Given the description of an element on the screen output the (x, y) to click on. 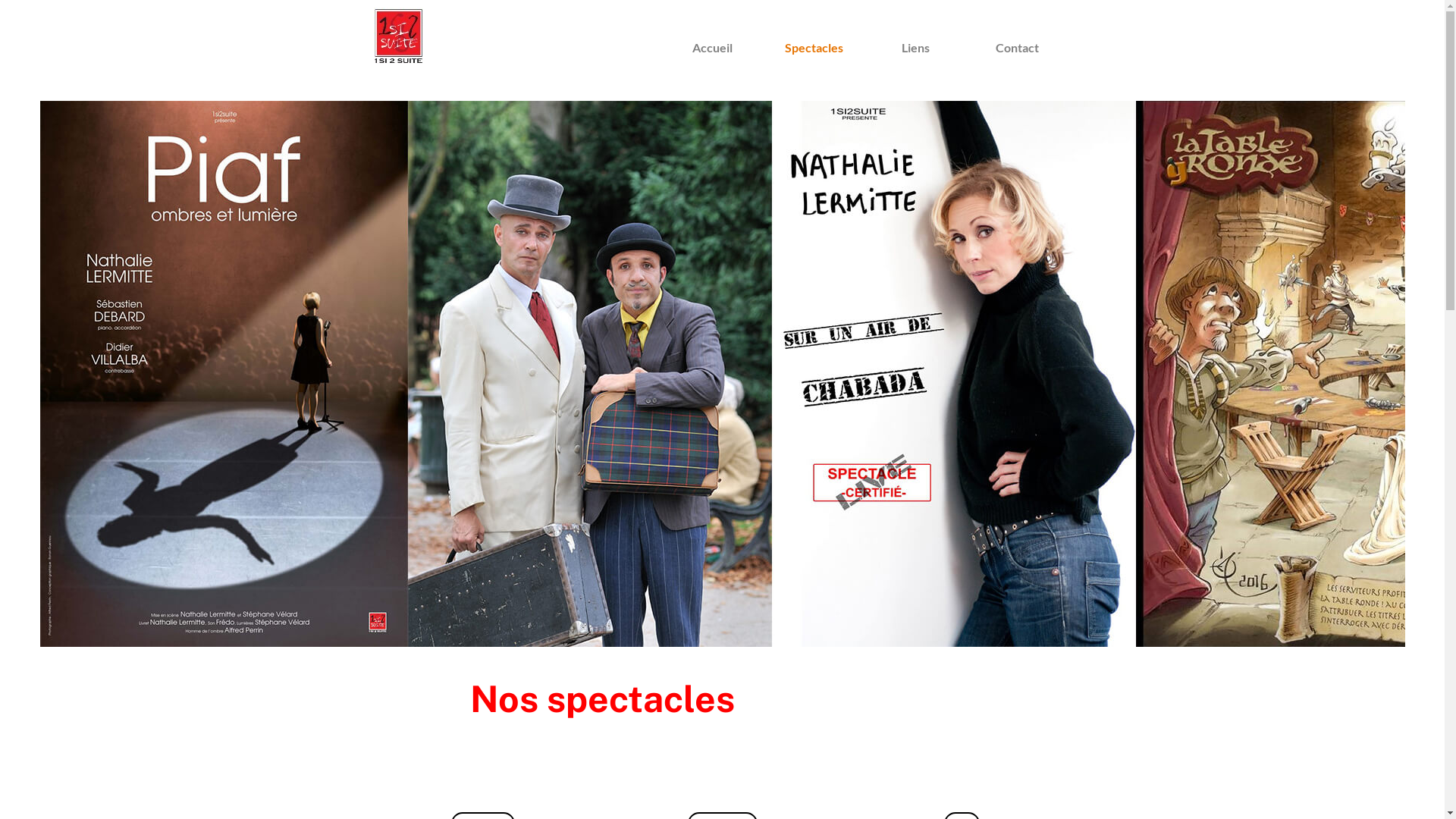
Liens Element type: text (915, 47)
Accueil Element type: text (711, 47)
Spectacles Element type: text (813, 47)
Contact Element type: text (1016, 47)
